Given the description of an element on the screen output the (x, y) to click on. 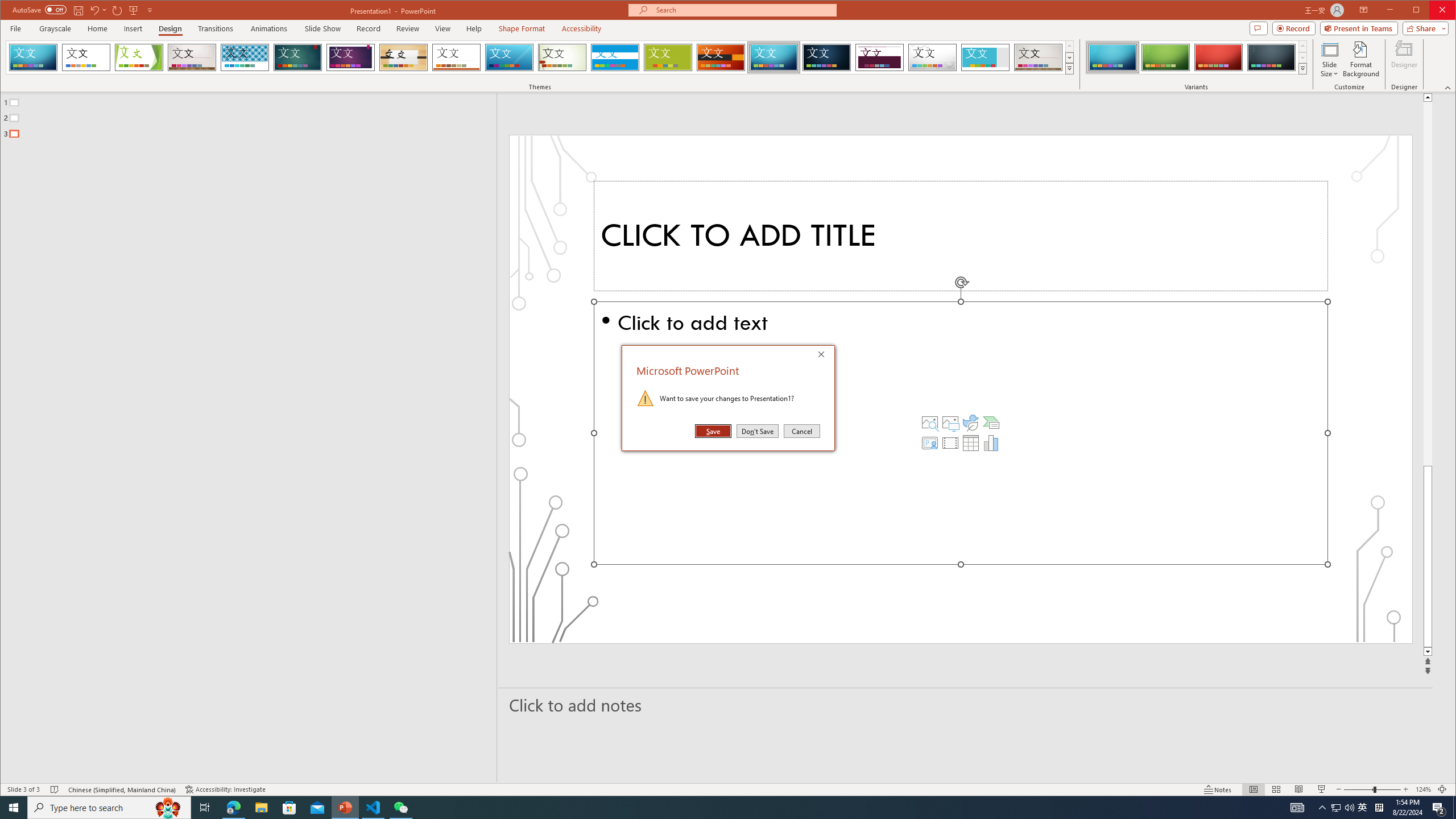
Circuit Variant 2 (1165, 57)
Stock Images (929, 422)
Format Background (1360, 59)
Running applications (707, 807)
Retrospect (456, 57)
Row Down (1302, 57)
Insert a SmartArt Graphic (991, 422)
Circuit (773, 57)
